Given the description of an element on the screen output the (x, y) to click on. 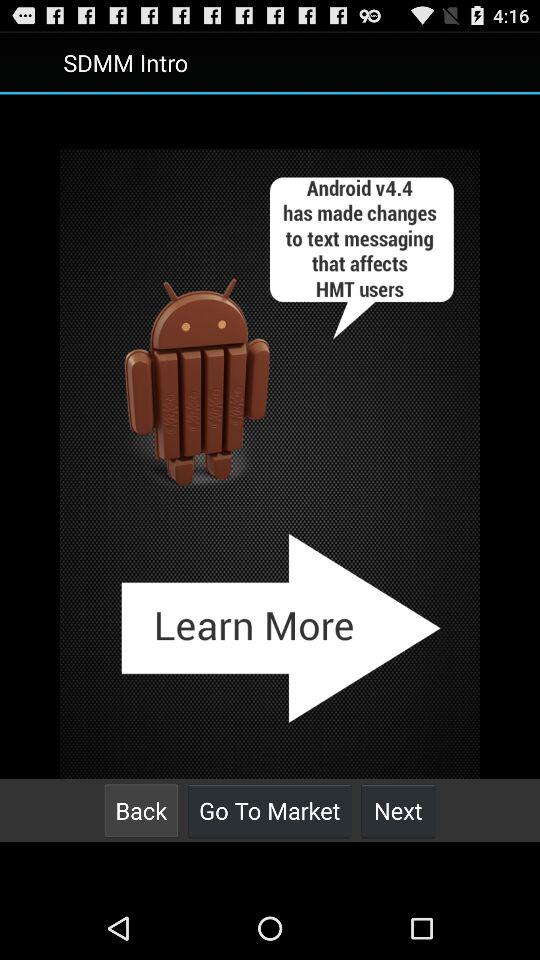
launch go to market at the bottom (269, 810)
